Given the description of an element on the screen output the (x, y) to click on. 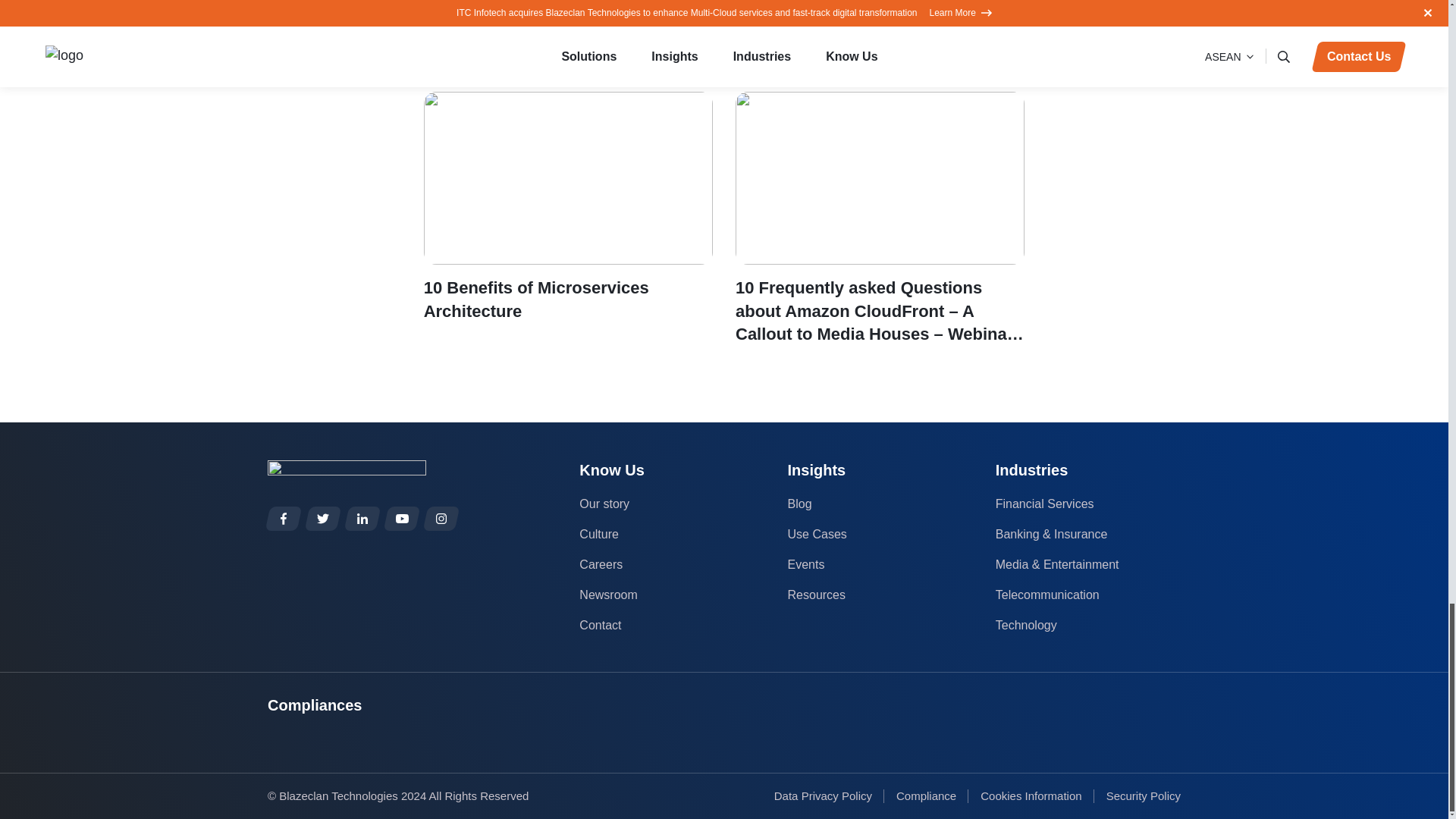
blazeclan-technologies (362, 518)
blazeclan.hq (441, 518)
blazeclan.hq (283, 518)
UCCKF4Lcbtus-pUoZr7Lxrow (401, 518)
footer-logo (346, 469)
